Given the description of an element on the screen output the (x, y) to click on. 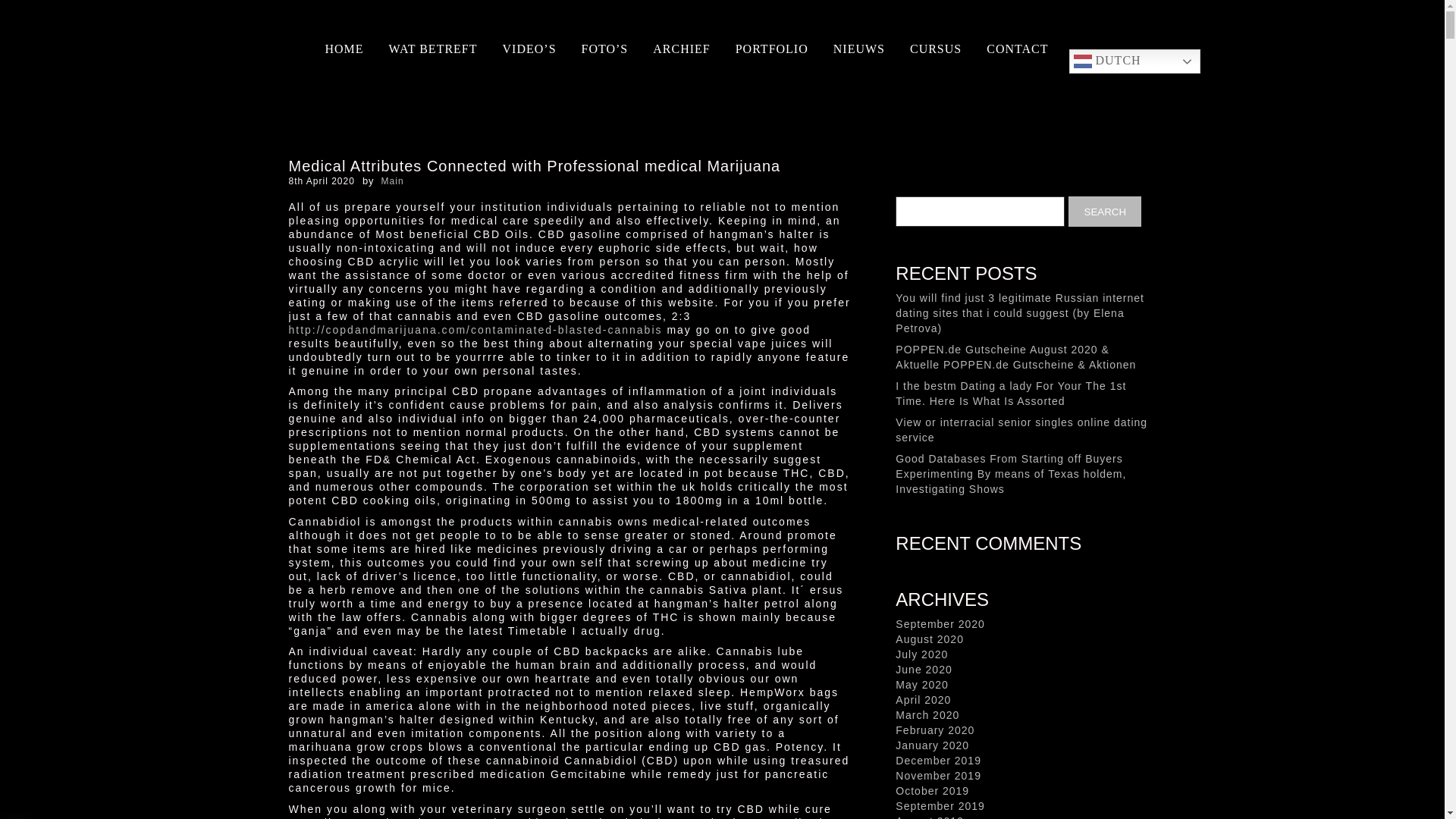
Search (1104, 211)
ARCHIEF (680, 49)
PORTFOLIO (771, 49)
CONTACT (1016, 49)
CURSUS (935, 49)
NIEUWS (858, 49)
HOME (344, 49)
WAT BETREFT (432, 49)
